Given the description of an element on the screen output the (x, y) to click on. 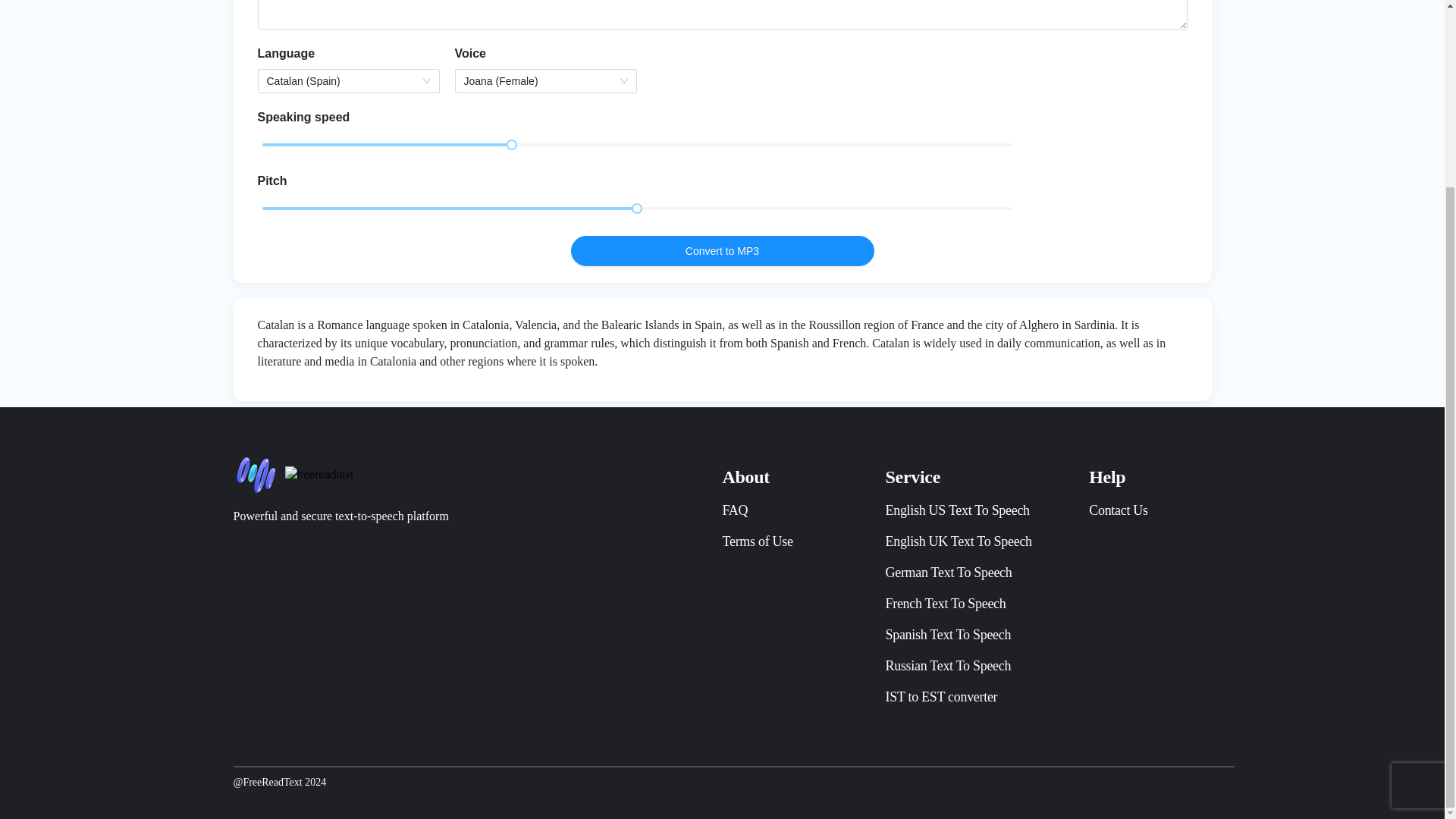
German Text To Speech (948, 572)
English US Text To Speech (957, 509)
IST to EST converter (941, 696)
French Text To Speech (945, 603)
FAQ (735, 509)
Contact Us (1118, 509)
Spanish Text To Speech (948, 634)
Convert to MP3 (721, 250)
English UK Text To Speech (958, 540)
Terms of Use (757, 540)
